Given the description of an element on the screen output the (x, y) to click on. 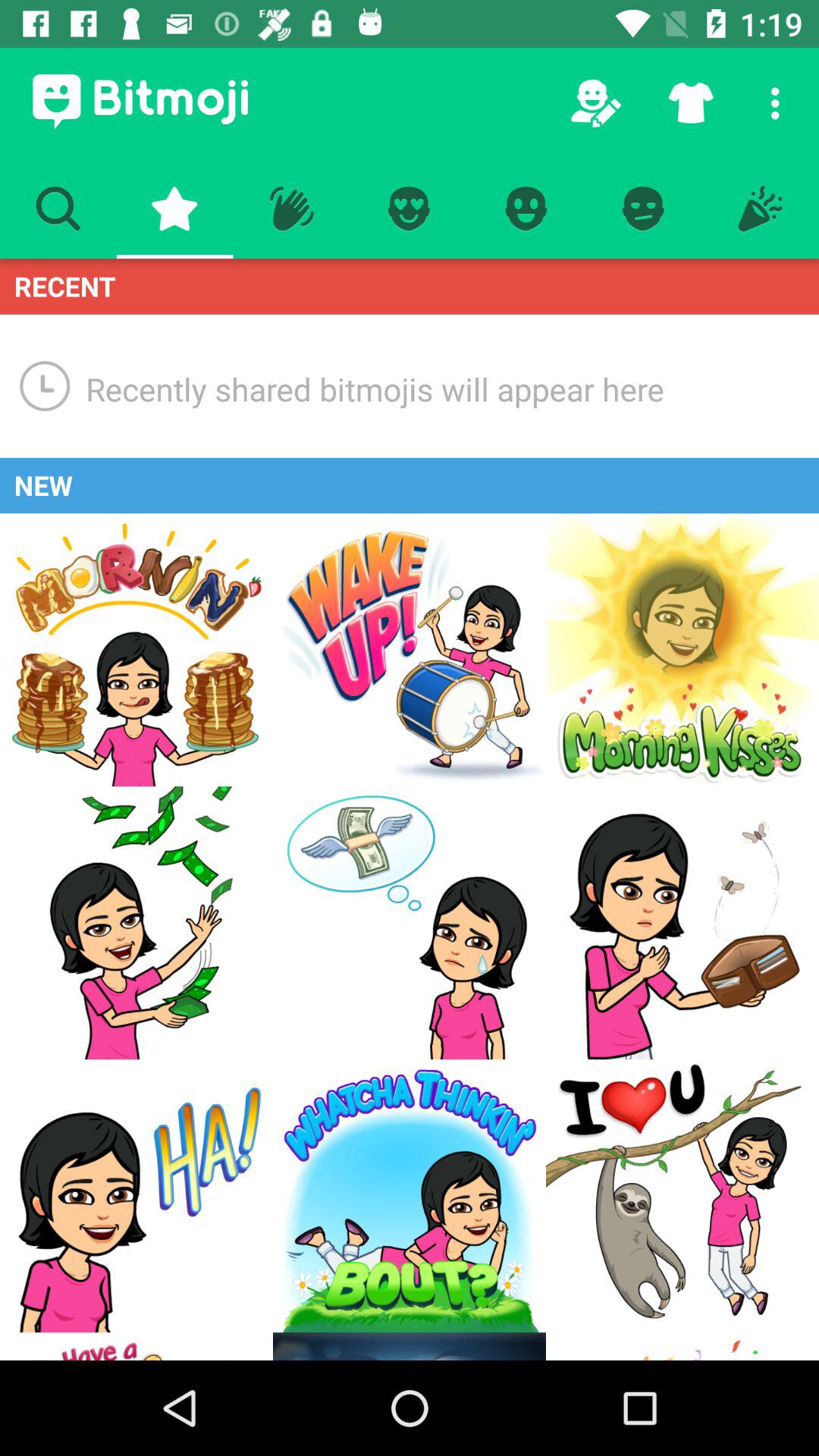
wake up emoji (409, 649)
